Given the description of an element on the screen output the (x, y) to click on. 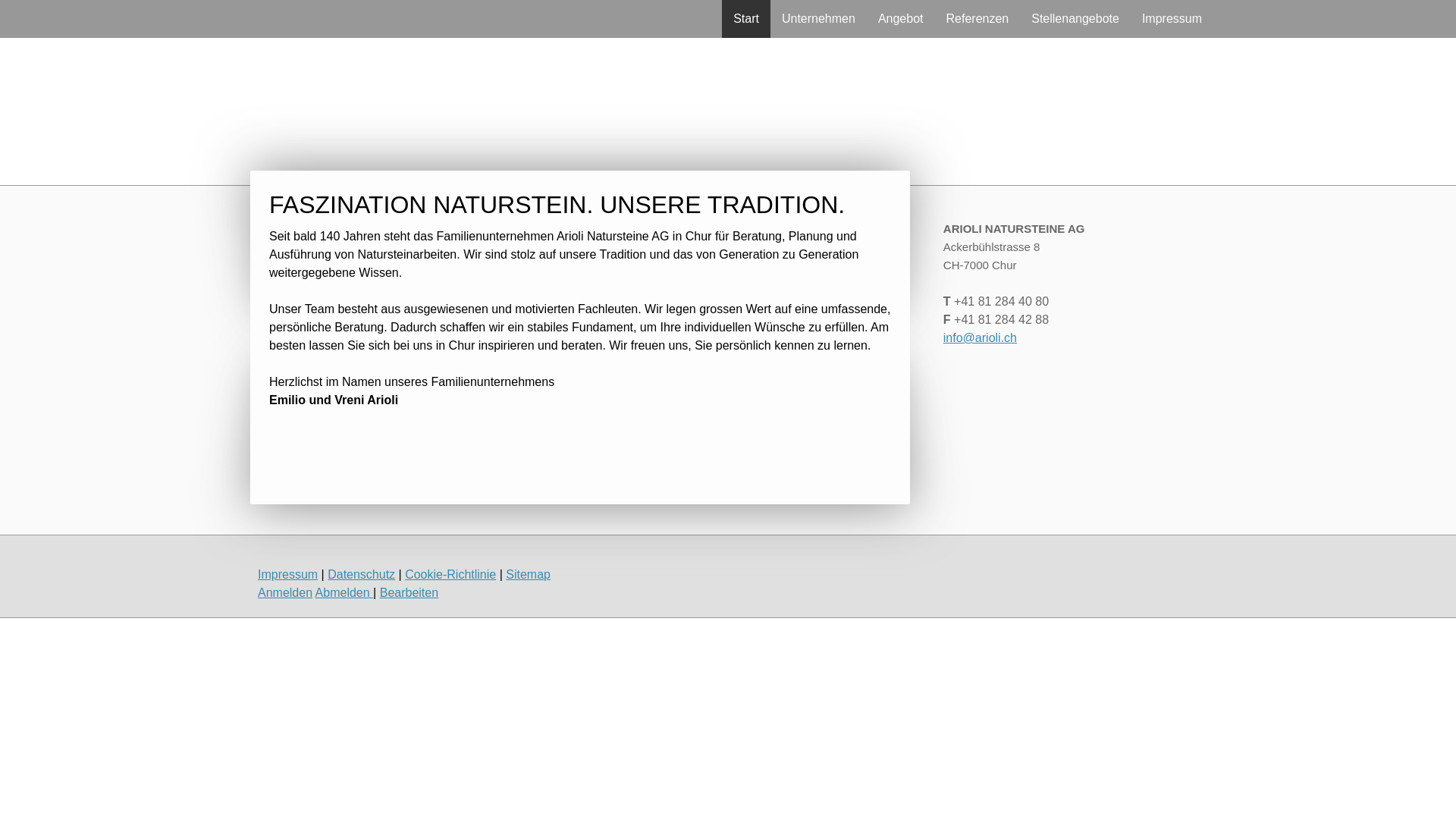
Unternehmen Element type: text (818, 18)
info@arioli.ch Element type: text (979, 337)
Datenschutz Element type: text (361, 573)
Start Element type: text (745, 18)
Impressum Element type: text (287, 573)
Abmelden Element type: text (344, 592)
Impressum Element type: text (1171, 18)
Stellenangebote Element type: text (1074, 18)
Cookie-Richtlinie Element type: text (449, 573)
Anmelden Element type: text (284, 592)
Angebot Element type: text (900, 18)
Bearbeiten Element type: text (408, 592)
Referenzen Element type: text (976, 18)
Sitemap Element type: text (527, 573)
